Given the description of an element on the screen output the (x, y) to click on. 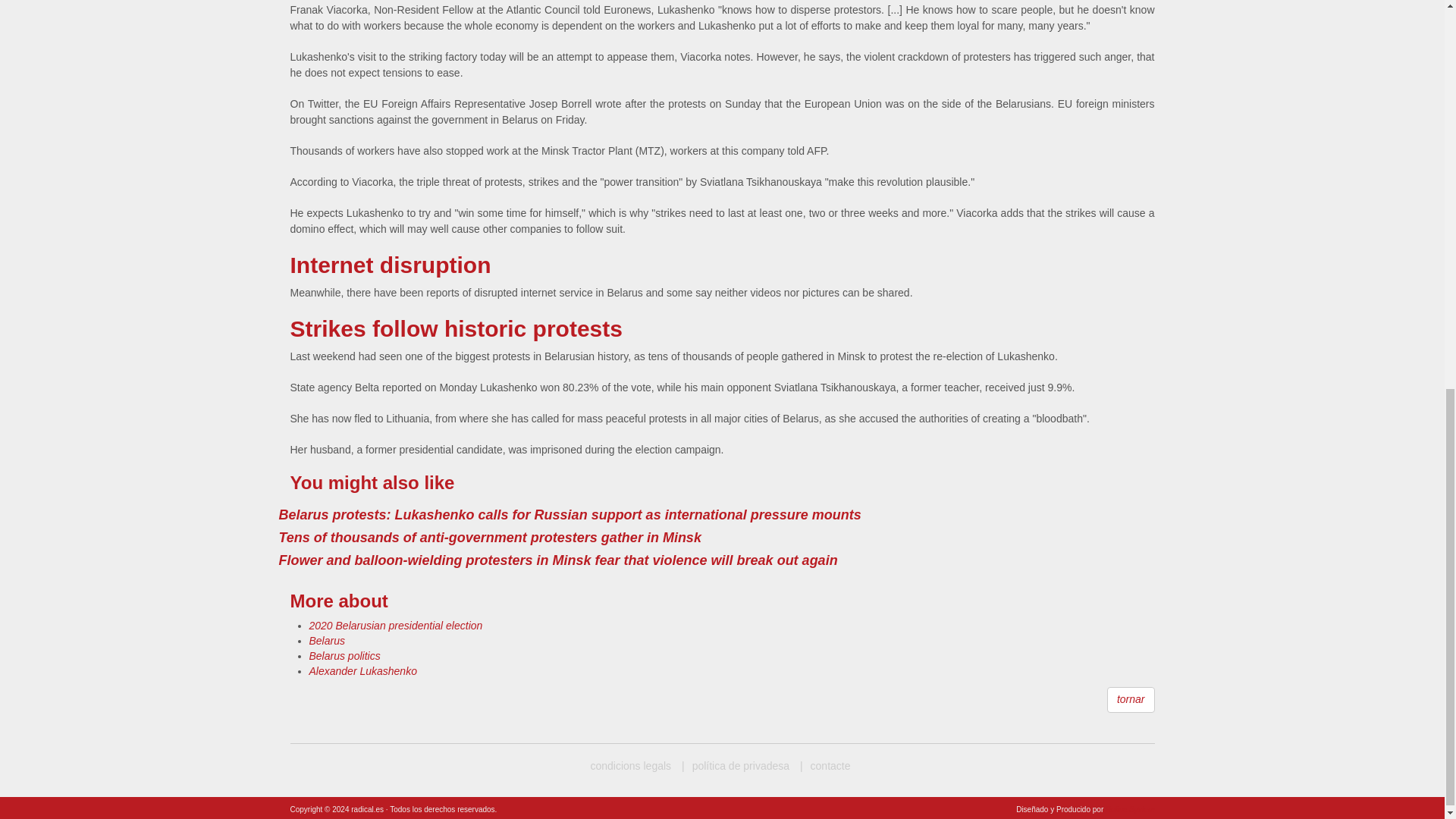
contacto (824, 766)
BARCELONA RADICAL (630, 766)
